Given the description of an element on the screen output the (x, y) to click on. 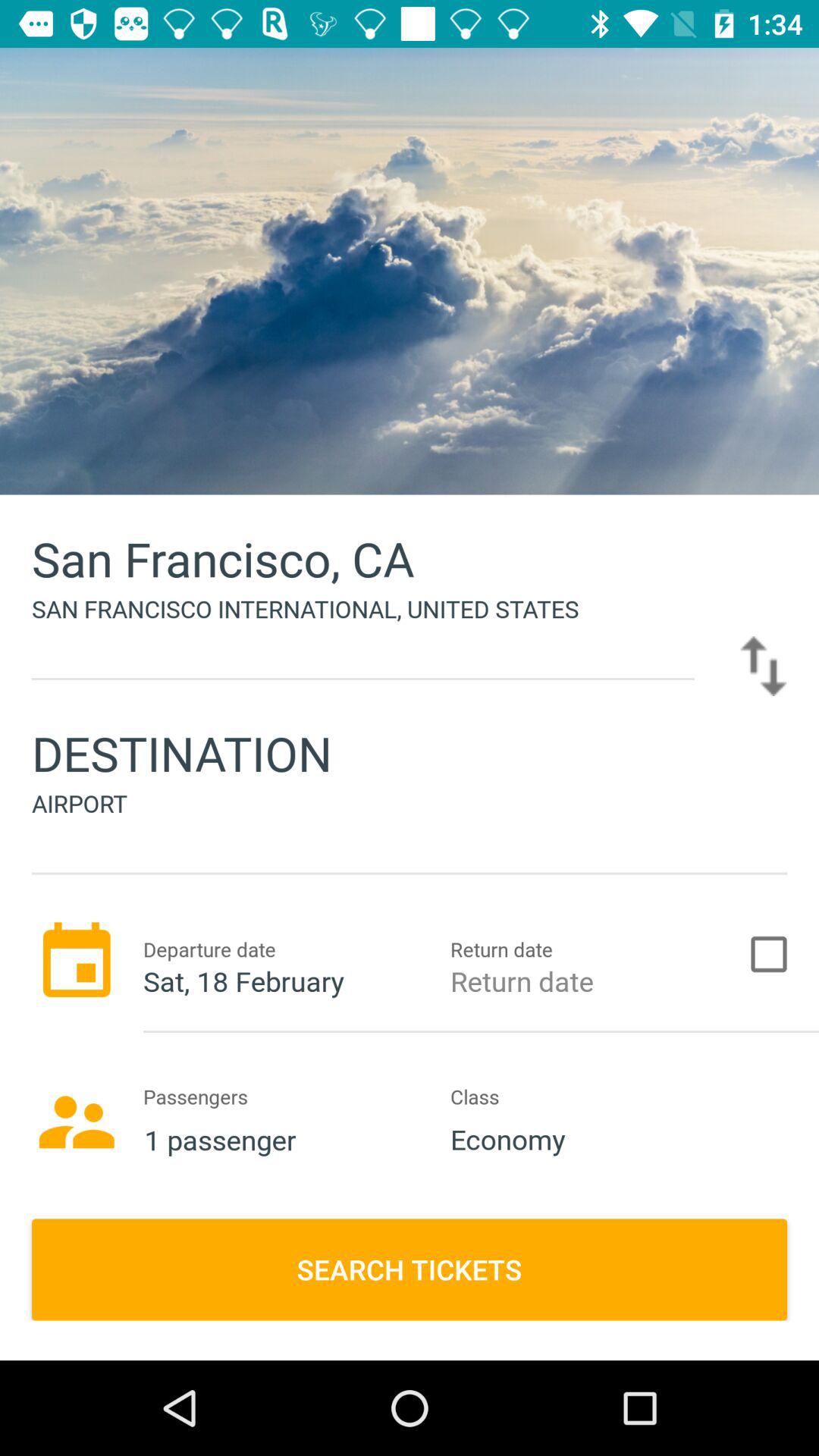
scroll until search tickets icon (409, 1269)
